Given the description of an element on the screen output the (x, y) to click on. 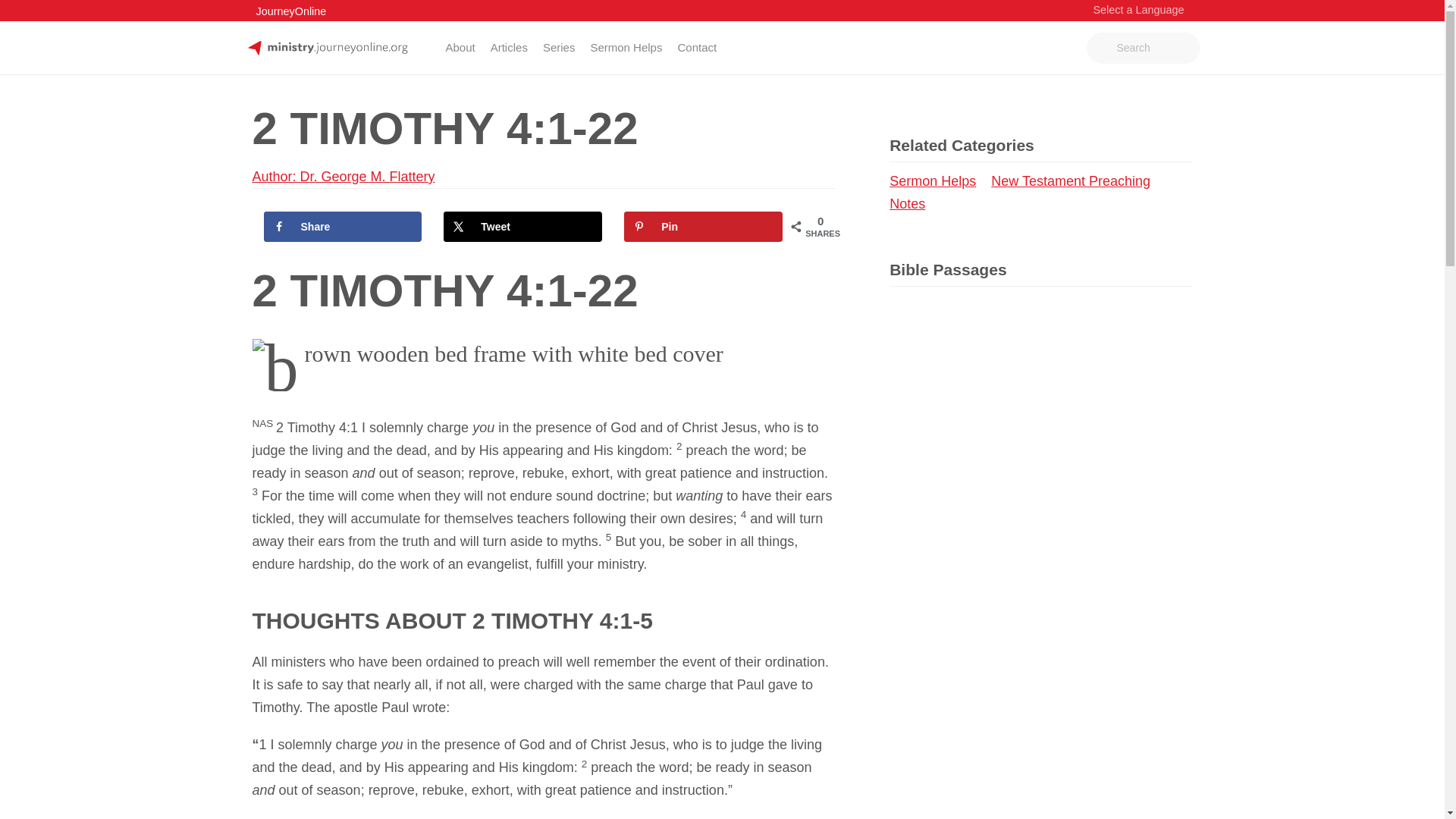
Articles (509, 47)
Tweet (523, 226)
Share on X (523, 226)
Share (342, 226)
Sermon Helps (938, 181)
Sermon Helps (625, 47)
Share on Facebook (342, 226)
Author: Dr. George M. Flattery (342, 176)
Series (559, 47)
Save to Pinterest (703, 226)
